Given the description of an element on the screen output the (x, y) to click on. 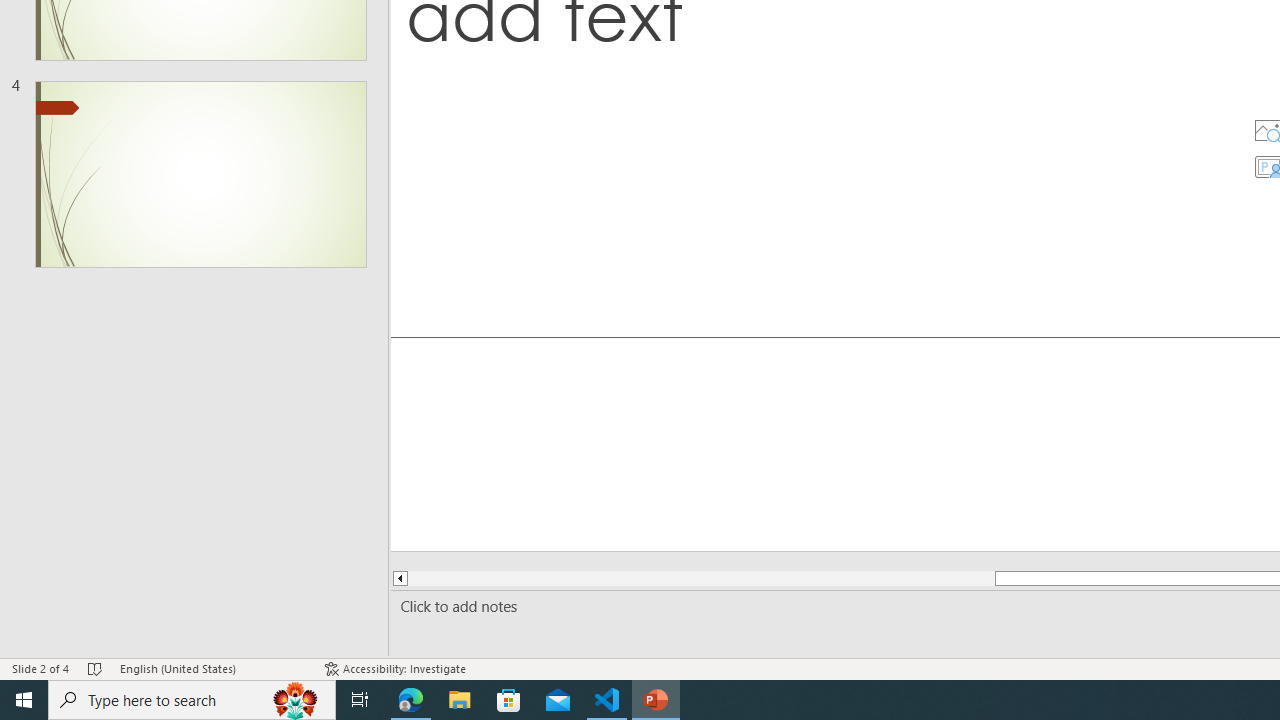
Accessibility Checker Accessibility: Investigate (395, 668)
Spell Check No Errors (95, 668)
Slide (200, 174)
